Given the description of an element on the screen output the (x, y) to click on. 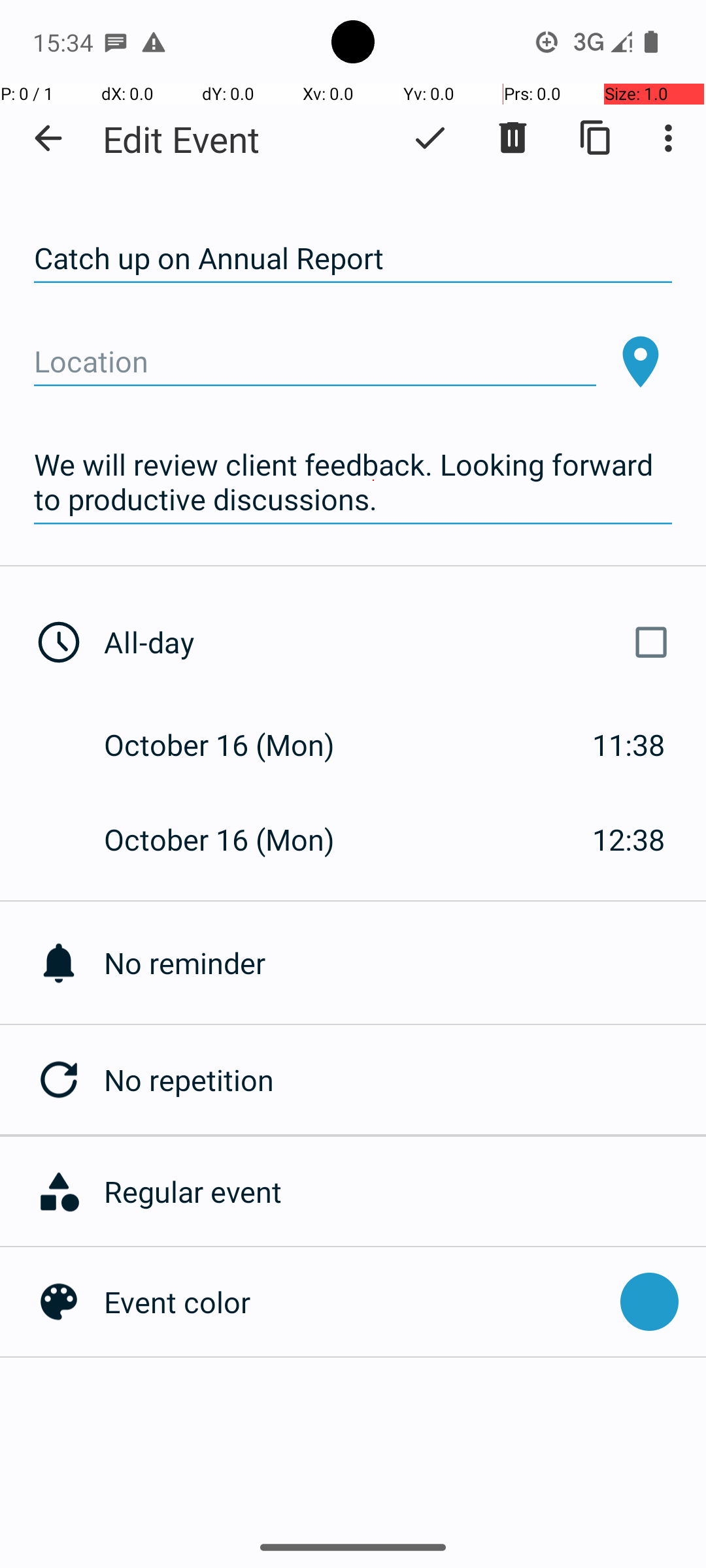
Catch up on Annual Report Element type: android.widget.EditText (352, 258)
We will review client feedback. Looking forward to productive discussions. Element type: android.widget.EditText (352, 482)
October 16 (Mon) Element type: android.widget.TextView (232, 744)
11:38 Element type: android.widget.TextView (628, 744)
12:38 Element type: android.widget.TextView (628, 838)
